Given the description of an element on the screen output the (x, y) to click on. 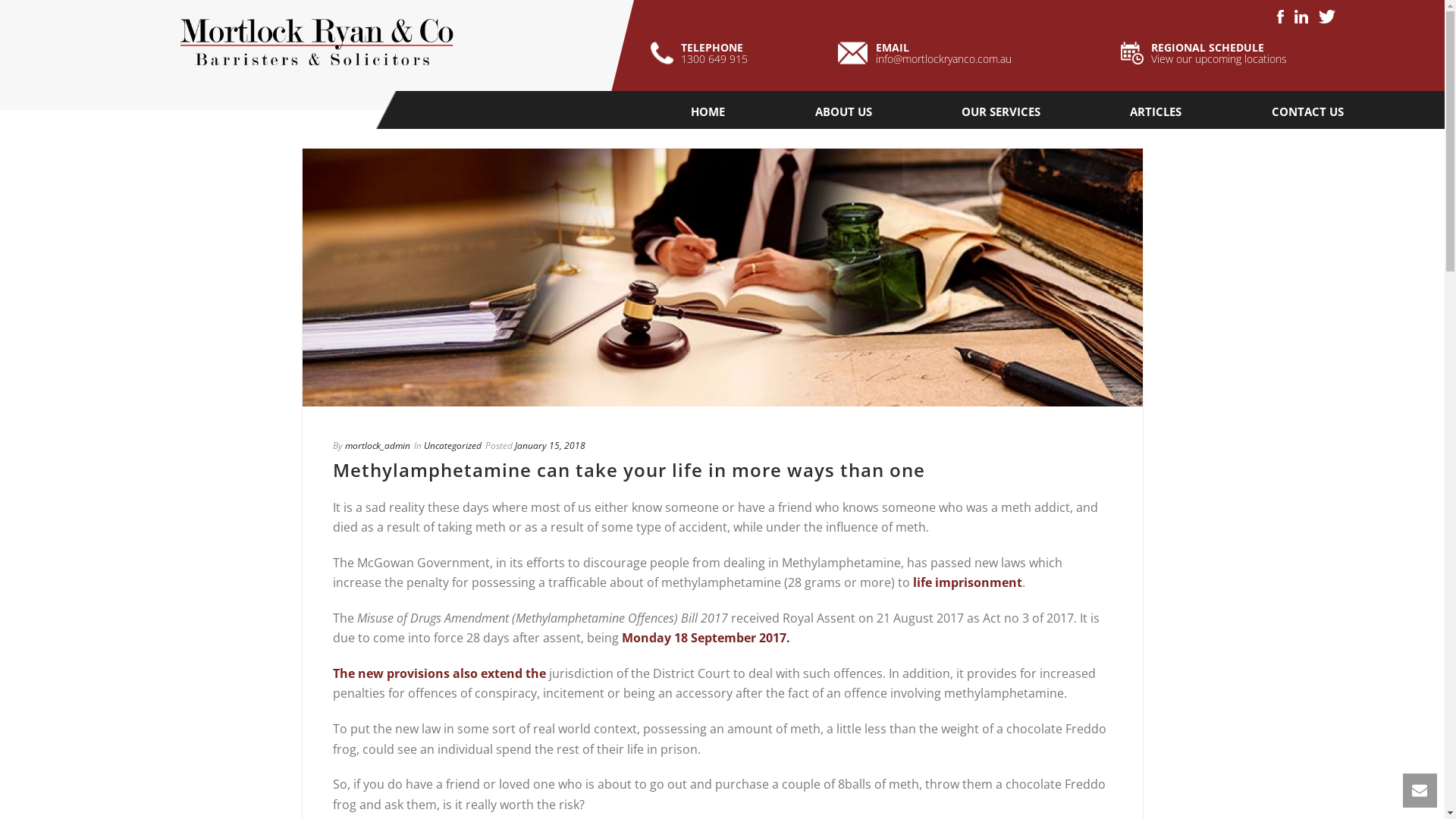
1300 649 915 Element type: text (713, 58)
mortlock_admin Element type: text (376, 445)
HOME Element type: text (707, 110)
OUR SERVICES Element type: text (1000, 110)
January 15, 2018 Element type: text (549, 445)
  Element type: text (721, 277)
email Element type: hover (852, 53)
CONTACT US Element type: text (1307, 110)
twitter Element type: hover (1326, 16)
Methylamphetamine can take your life in more ways than one Element type: hover (721, 277)
View our upcoming locations Element type: text (1218, 58)
telephone Element type: hover (661, 53)
ABOUT US Element type: text (843, 110)
Uncategorized Element type: text (451, 445)
ARTICLES Element type: text (1155, 110)
info@mortlockryanco.com.au Element type: text (943, 58)
Providing legal services to Wheatbelt Element type: hover (316, 44)
Mortlock Ryan Element type: hover (316, 45)
regional_schedule Element type: hover (1131, 52)
linkedin Element type: hover (1301, 16)
facebook Element type: hover (1280, 16)
Methylamphetamine can take your life in more ways than one Element type: text (628, 469)
